Given the description of an element on the screen output the (x, y) to click on. 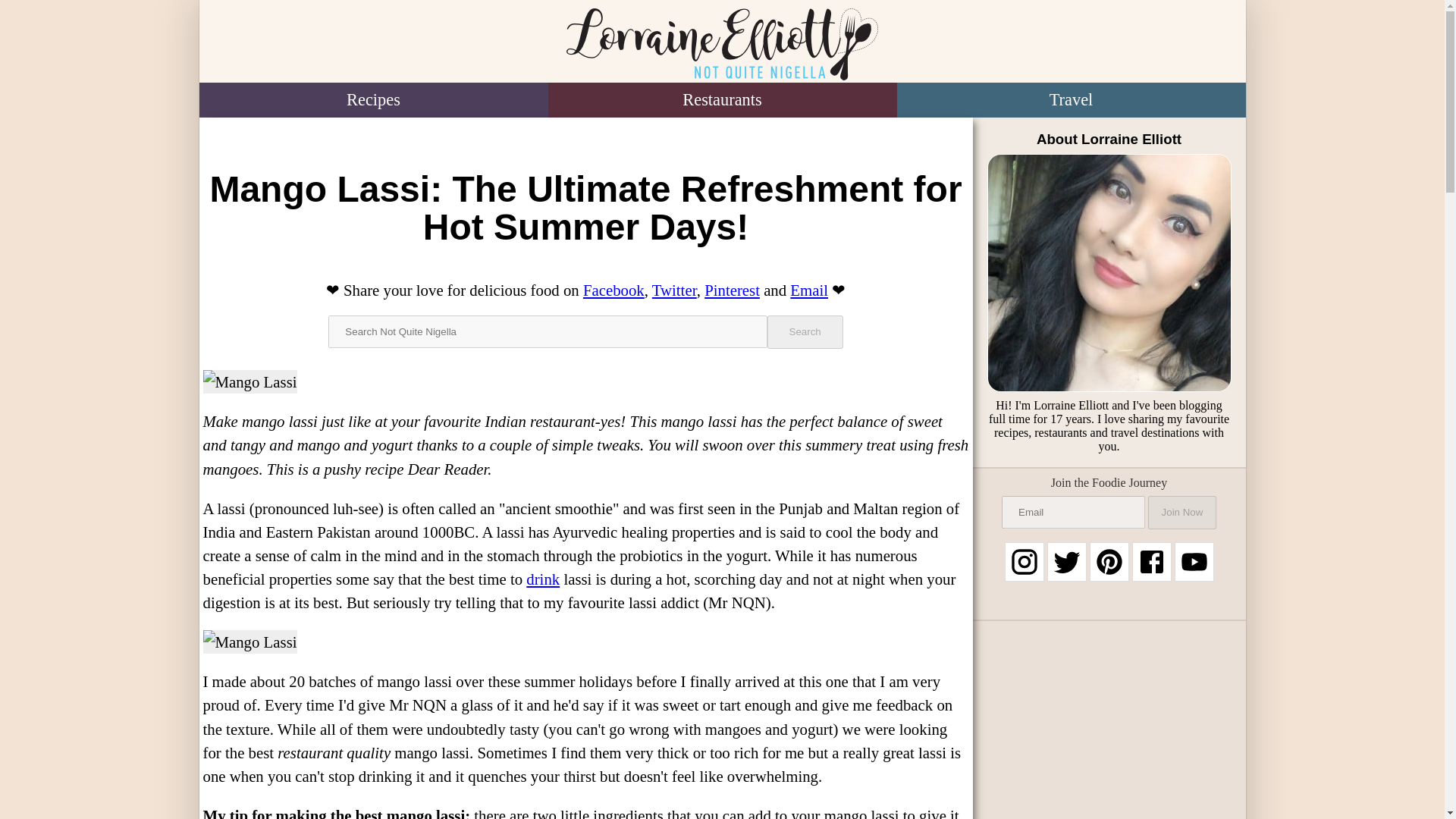
drink (542, 579)
Travel (1070, 99)
Pin it (732, 289)
Tweet (674, 289)
Facebook (614, 289)
Pinterest (732, 289)
Restaurants (721, 99)
Join Now (1181, 512)
delicious food (513, 289)
Twitter (674, 289)
Recipes (372, 99)
Search (805, 331)
Not Quite Nigella (721, 44)
Email (809, 289)
Share on Facebook (614, 289)
